Given the description of an element on the screen output the (x, y) to click on. 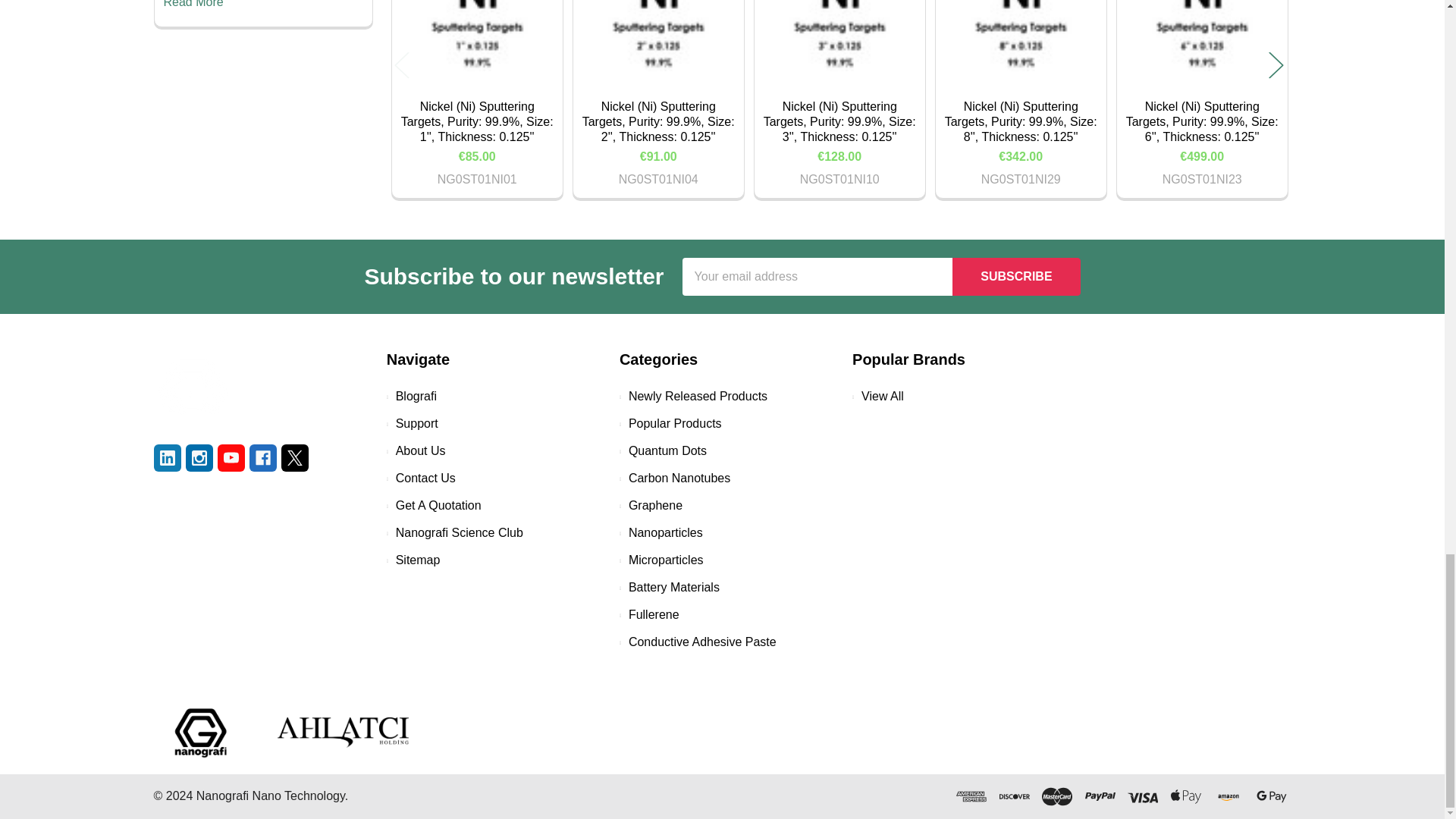
Subscribe (1016, 276)
